Given the description of an element on the screen output the (x, y) to click on. 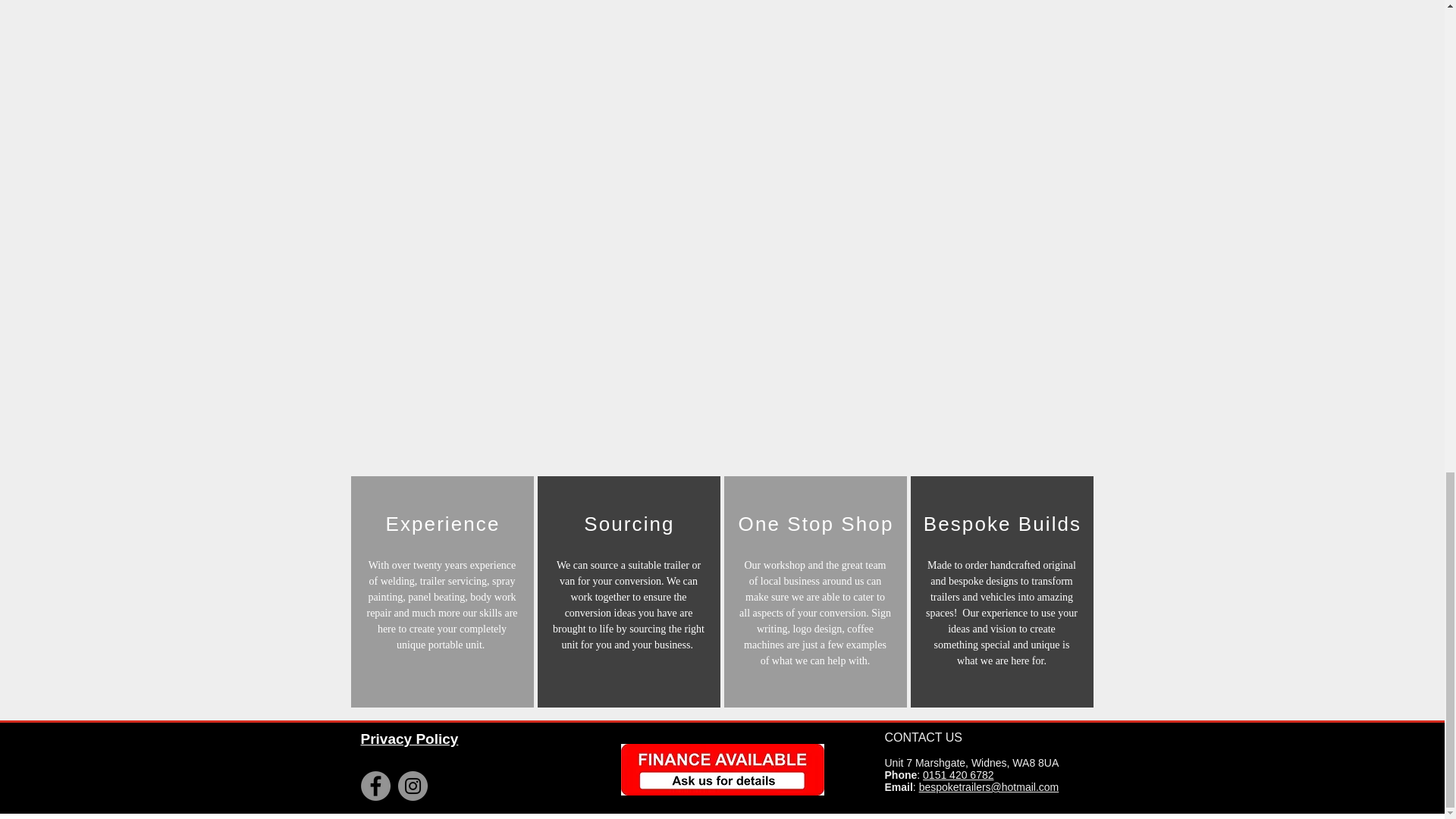
Privacy Policy (409, 738)
0151 420 6782 (957, 775)
